Given the description of an element on the screen output the (x, y) to click on. 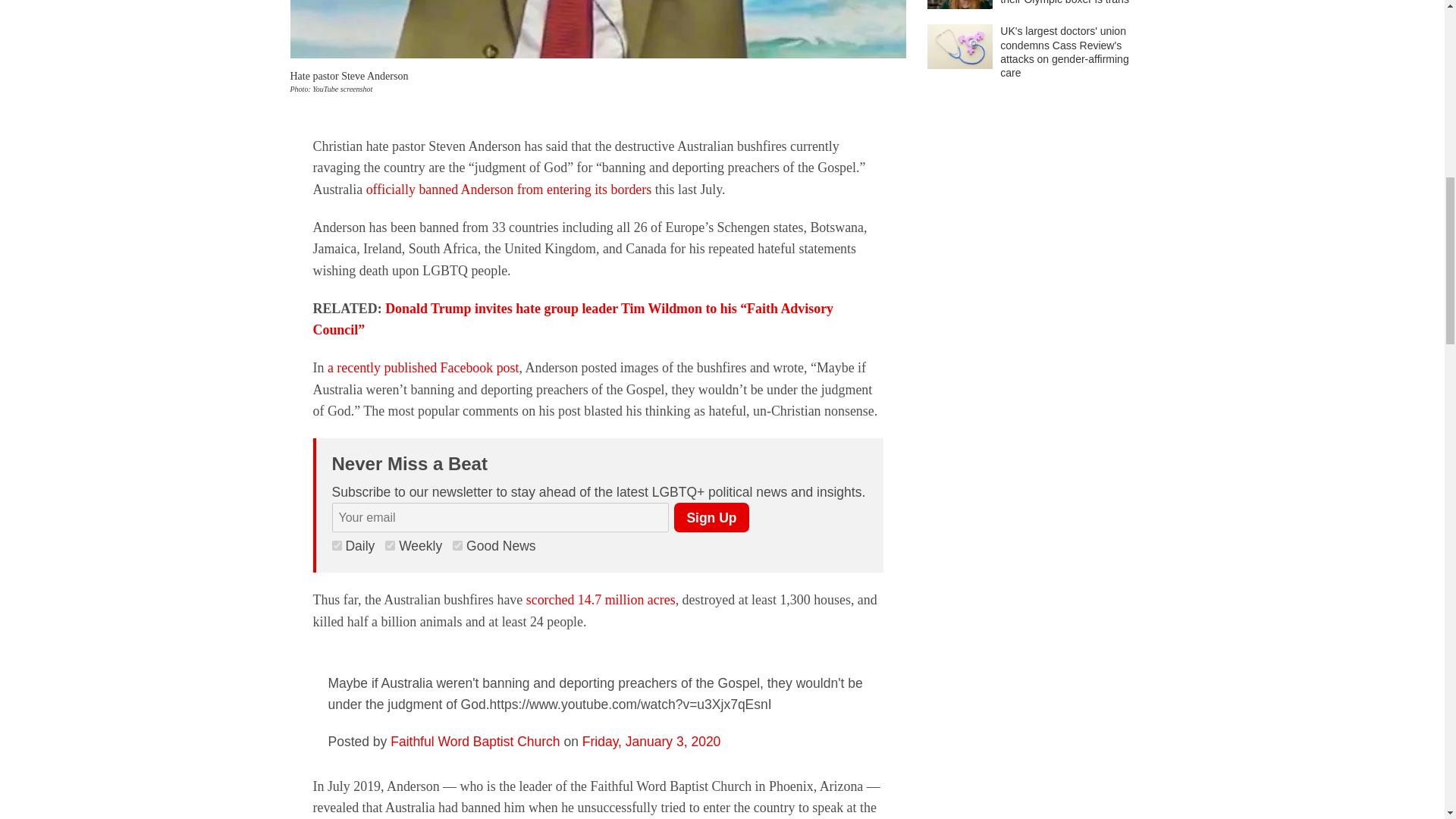
1920883 (457, 545)
a recently published Facebook post (423, 367)
1920884 (389, 545)
scorched 14.7 million acres (600, 599)
steve-anderson-hate-pastor (597, 29)
Friday, January 3, 2020 (651, 741)
Faithful Word Baptist Church (474, 741)
Sign Up (711, 517)
officially banned Anderson from entering its borders (509, 189)
1920885 (336, 545)
